Given the description of an element on the screen output the (x, y) to click on. 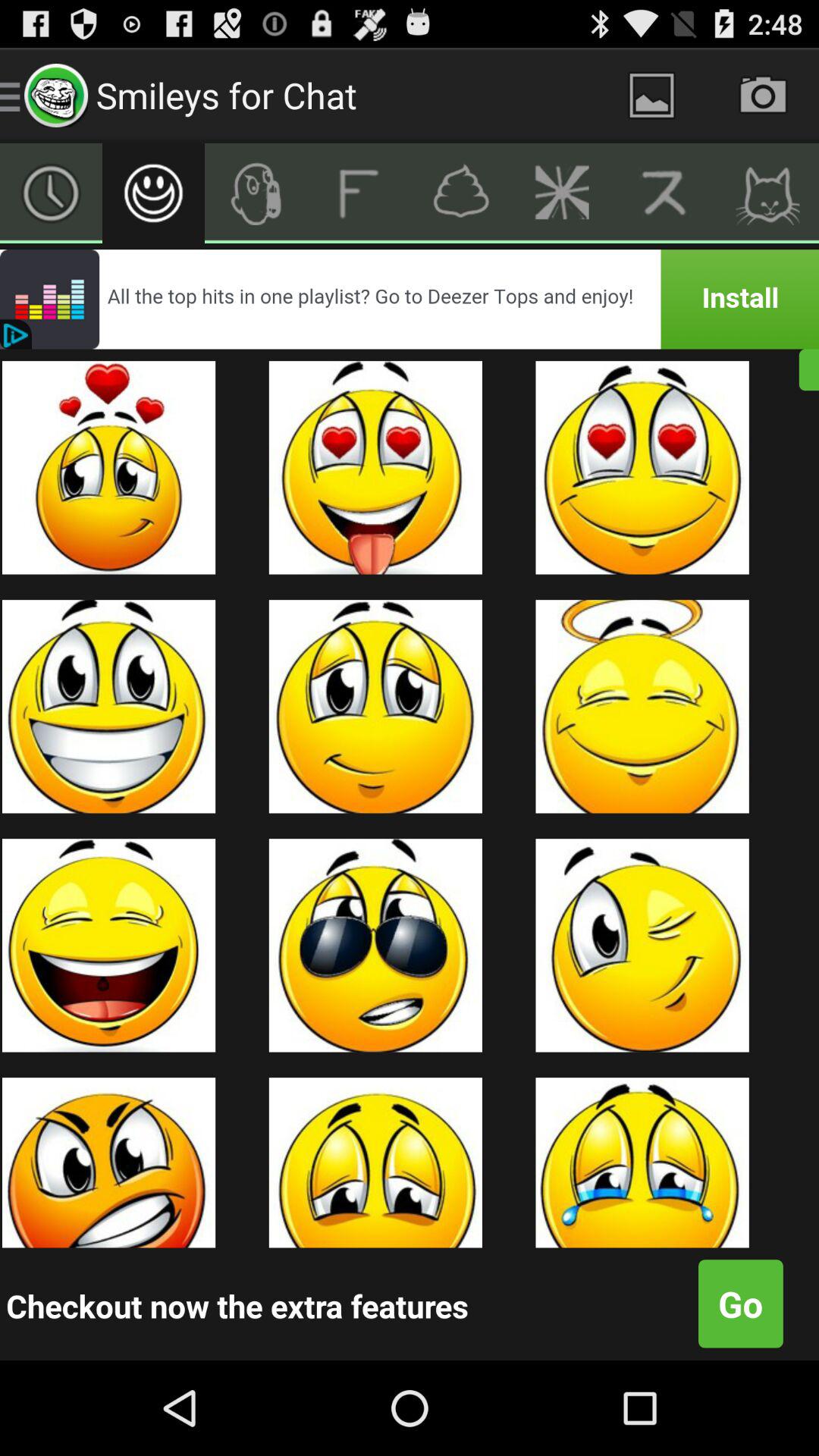
gallery (651, 95)
